Given the description of an element on the screen output the (x, y) to click on. 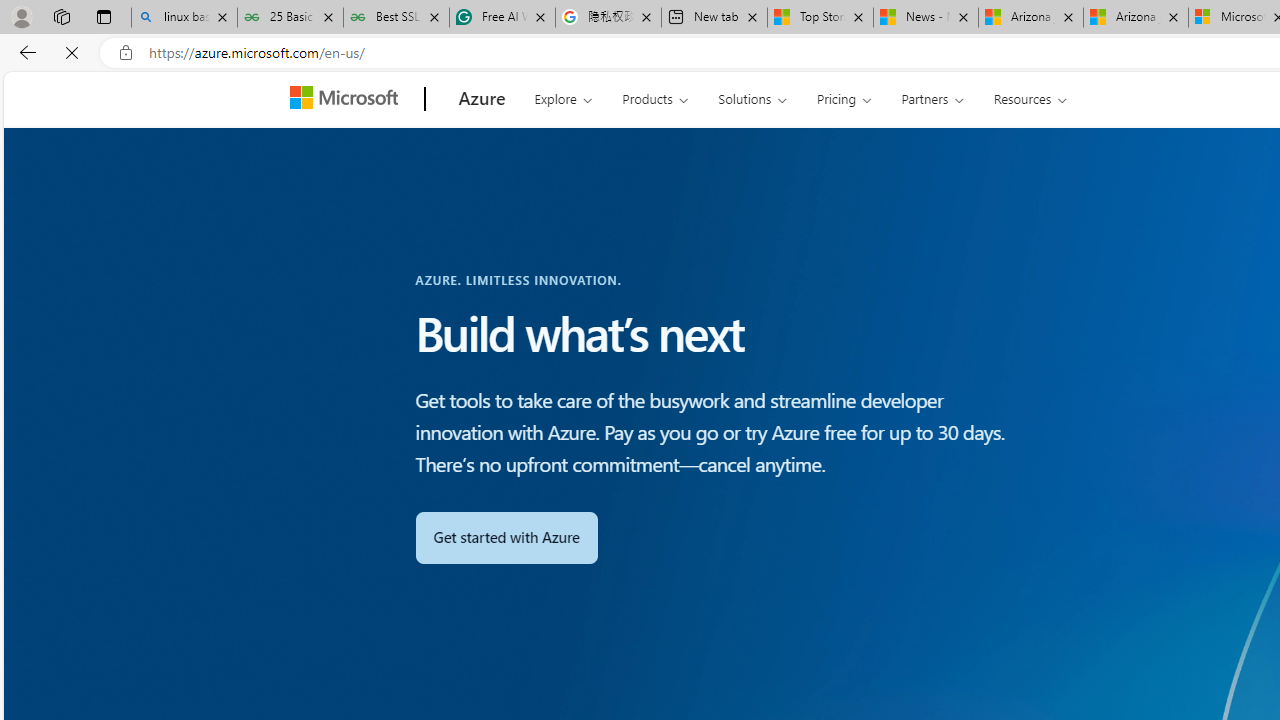
Azure (481, 99)
News - MSN (925, 17)
linux basic - Search (183, 17)
Best SSL Certificates Provider in India - GeeksforGeeks (396, 17)
Get started with Pay as you go using Azure (505, 537)
